Given the description of an element on the screen output the (x, y) to click on. 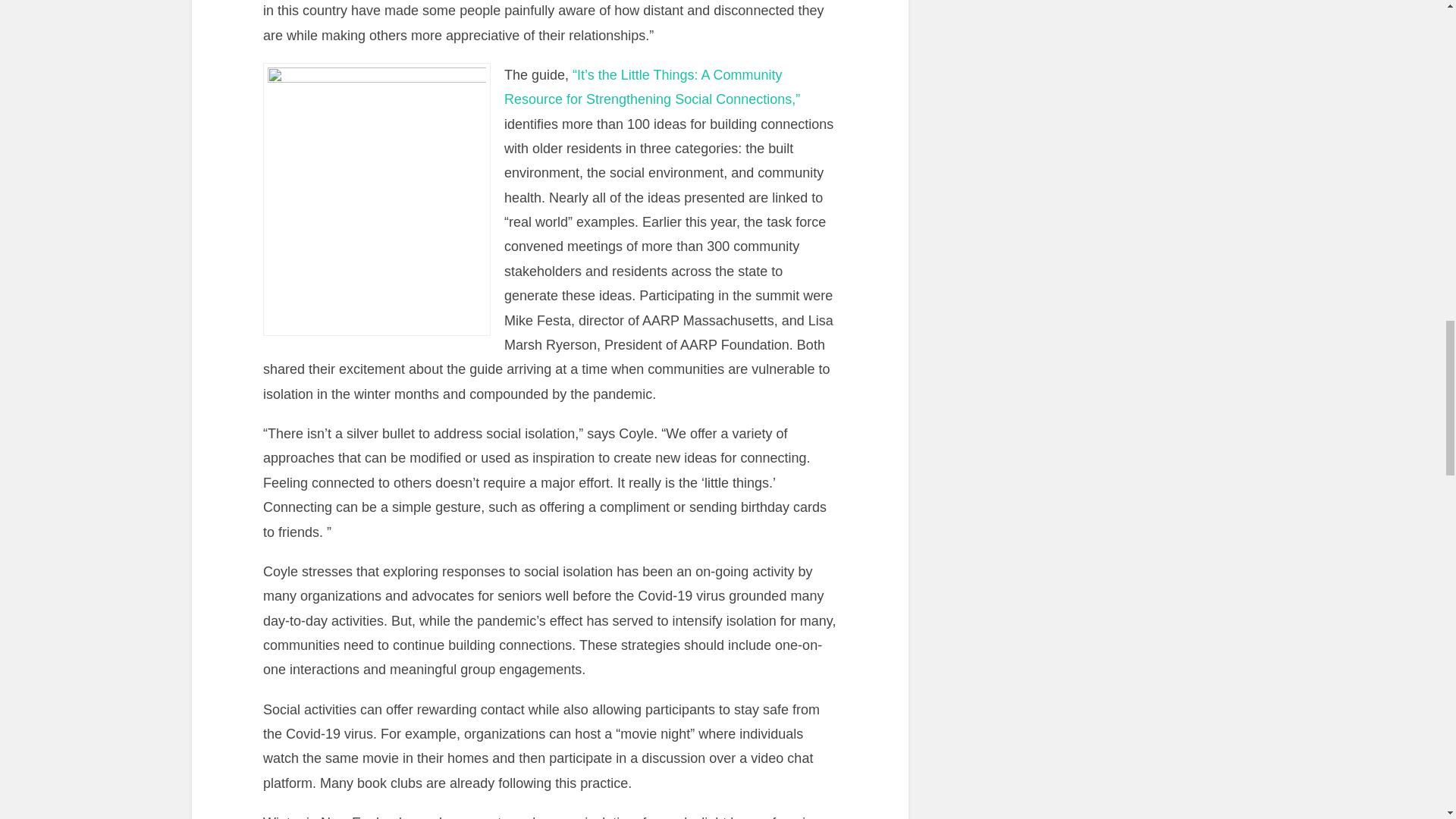
Subscribe me! (1050, 290)
Subscribe (1301, 154)
Privacy Policy (1104, 268)
